Given the description of an element on the screen output the (x, y) to click on. 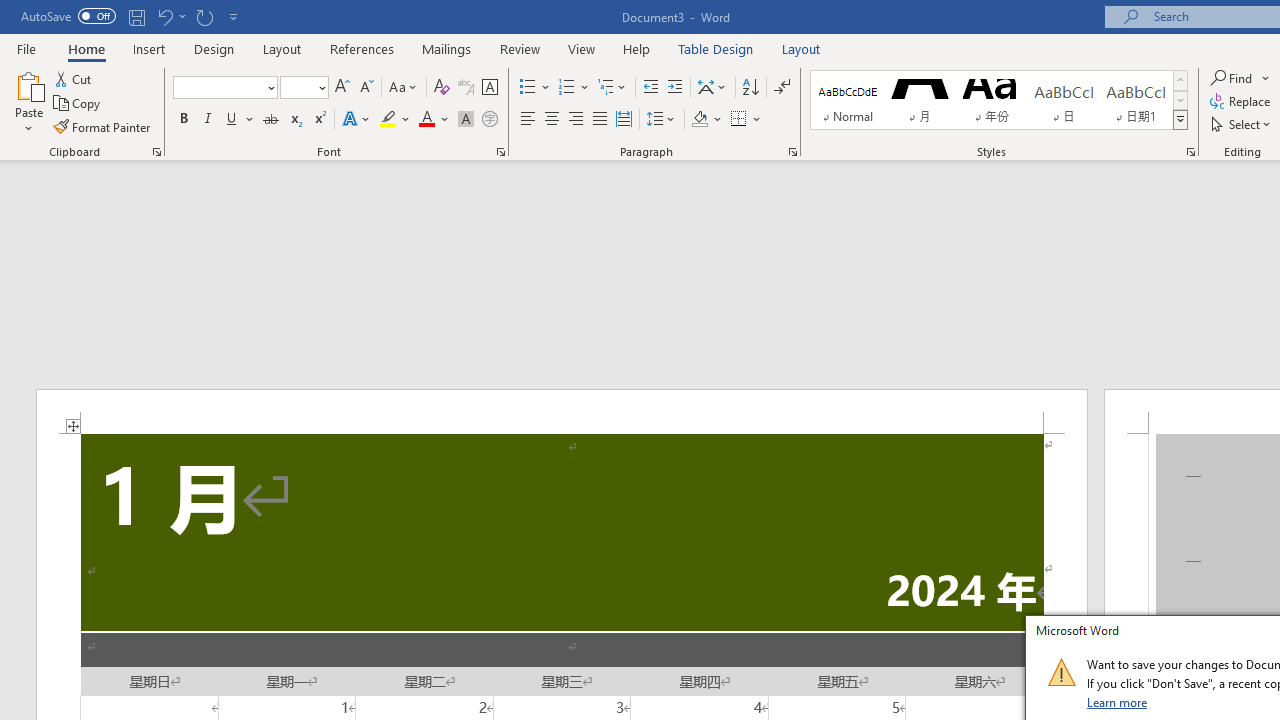
Font Color RGB(255, 0, 0) (426, 119)
Font... (500, 151)
Center (552, 119)
Cut (73, 78)
Copy (78, 103)
